Given the description of an element on the screen output the (x, y) to click on. 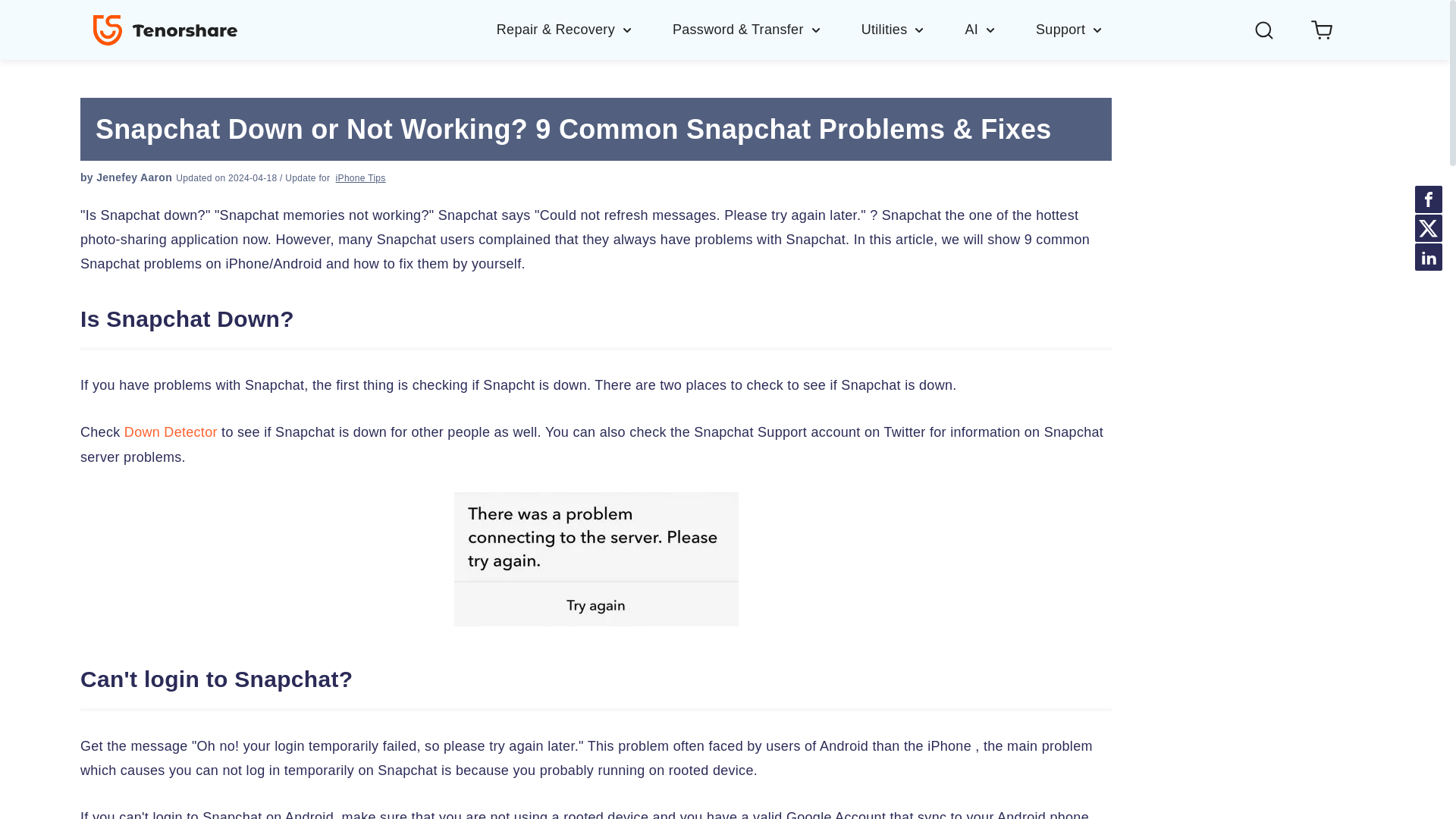
Support (1069, 29)
AI (999, 29)
Utilities (913, 29)
